Given the description of an element on the screen output the (x, y) to click on. 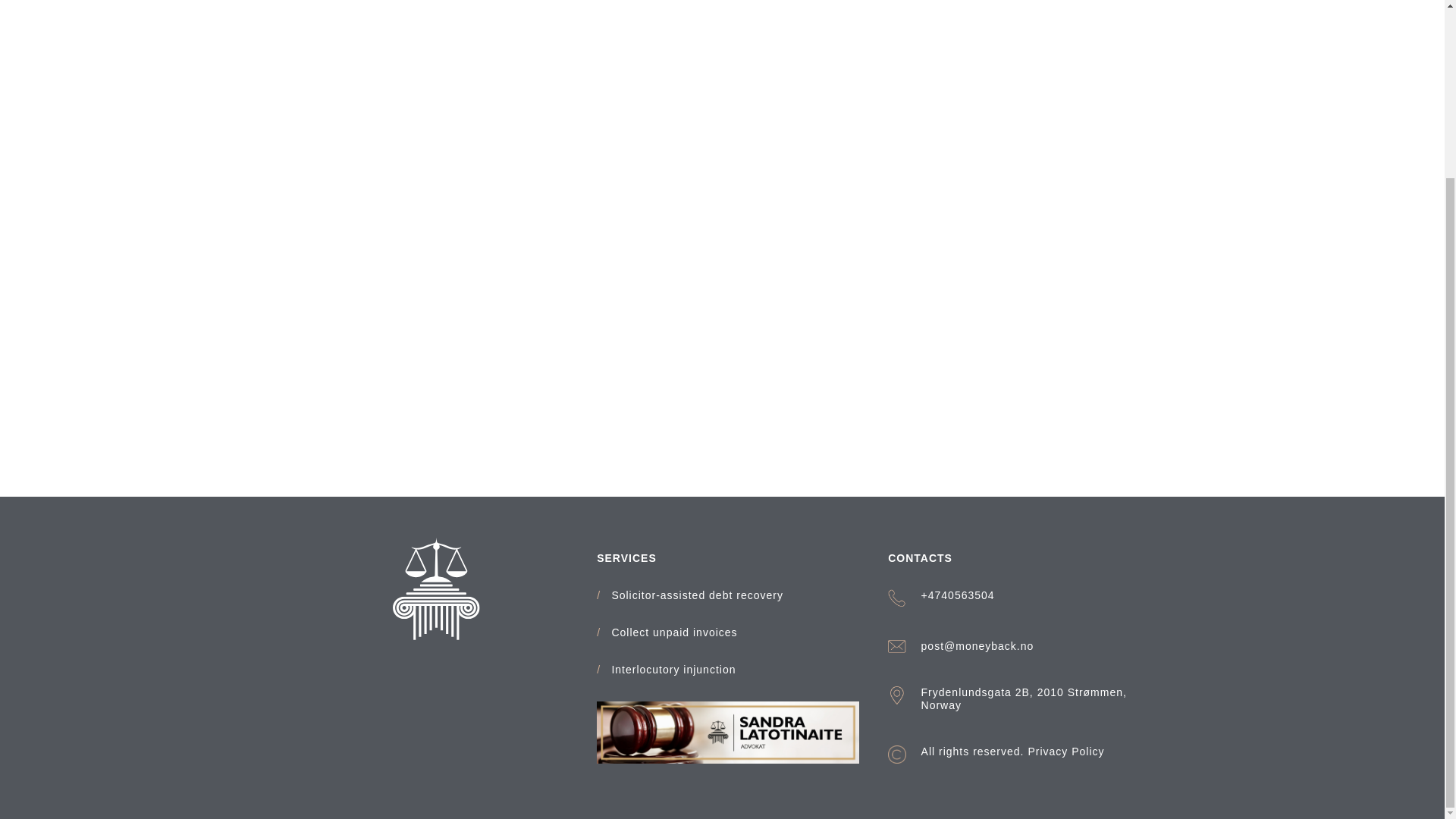
Interlocutory injunction (673, 669)
Privacy Policy (1065, 751)
Solicitor-assisted debt recovery (697, 594)
Collect unpaid invoices (673, 632)
